Given the description of an element on the screen output the (x, y) to click on. 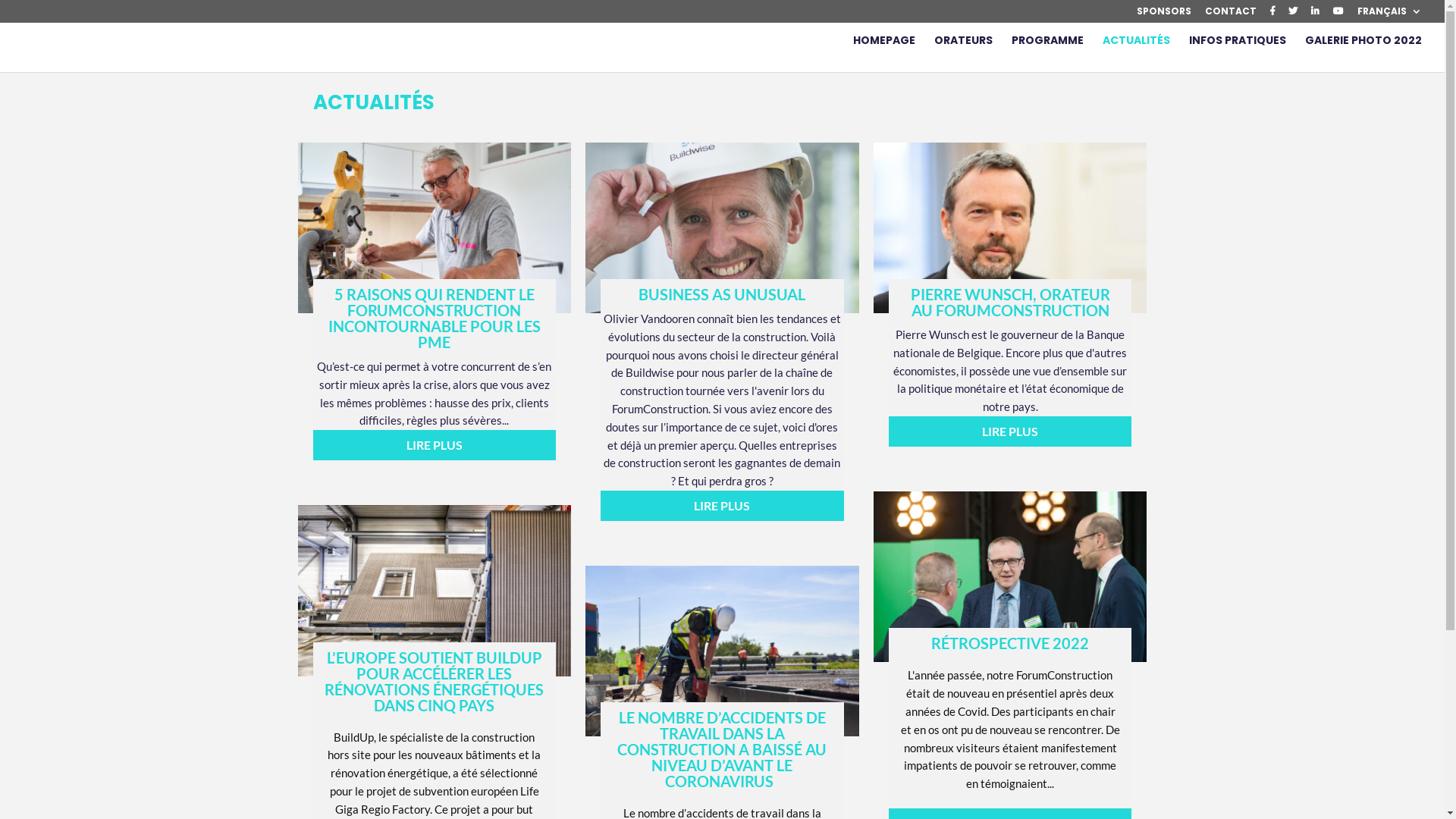
SPONSORS Element type: text (1163, 14)
CONTACT Element type: text (1230, 14)
LIRE PLUS Element type: text (1009, 431)
PROGRAMME Element type: text (1047, 53)
GALERIE PHOTO 2022 Element type: text (1363, 53)
LIRE PLUS Element type: text (433, 444)
BUSINESS AS UNUSUAL Element type: text (721, 294)
PIERRE WUNSCH, ORATEUR AU FORUMCONSTRUCTION Element type: text (1010, 302)
LIRE PLUS Element type: text (721, 505)
INFOS PRATIQUES Element type: text (1237, 53)
ORATEURS Element type: text (963, 53)
HOMEPAGE Element type: text (884, 53)
